Given the description of an element on the screen output the (x, y) to click on. 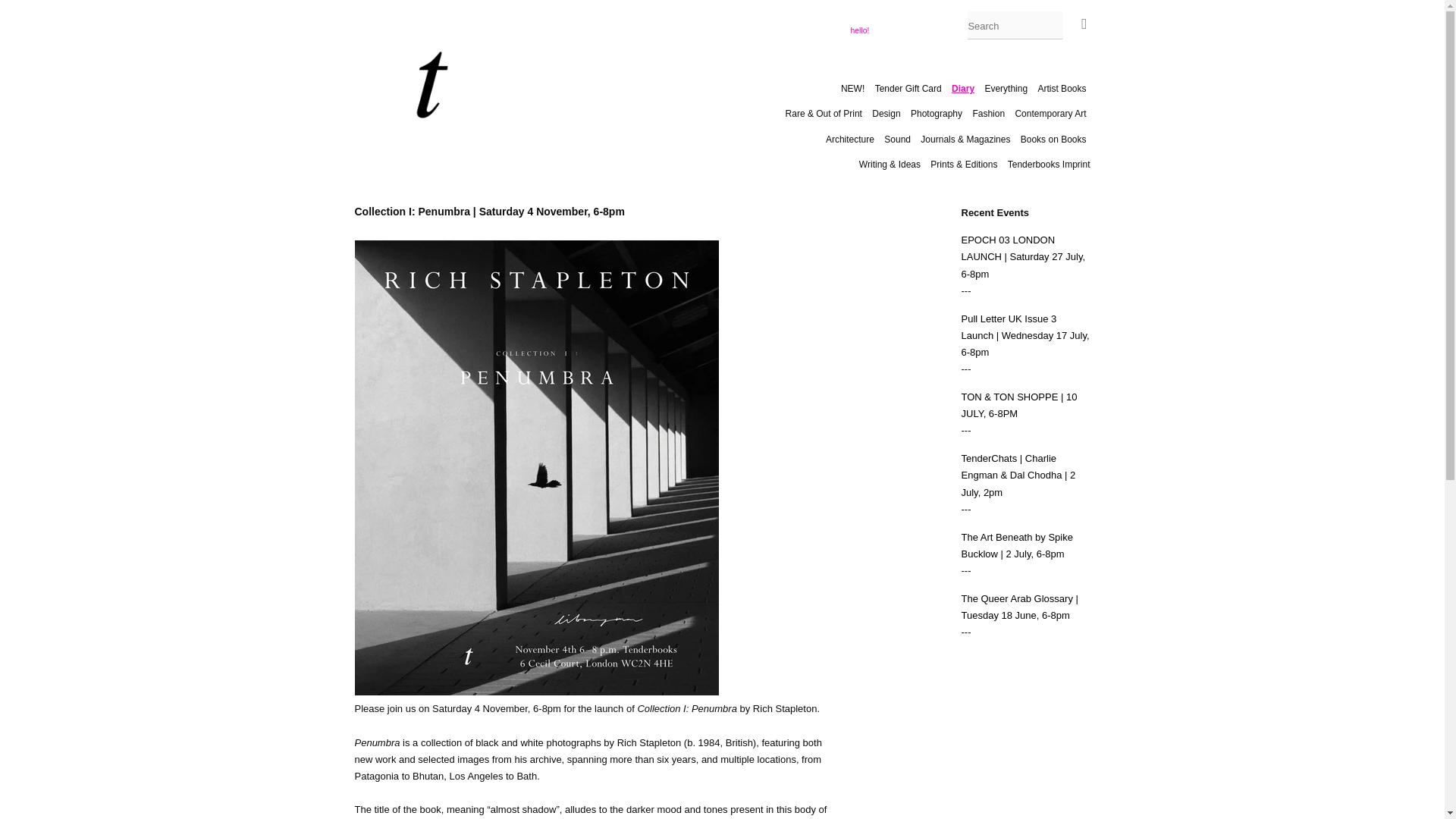
Sound (897, 138)
Diary (962, 87)
Architecture (849, 138)
Everything (1004, 87)
Tender Gift Card (907, 87)
Design (885, 113)
Artist Books (1061, 87)
Photography (936, 113)
Fashion (988, 113)
Books on Books (1053, 138)
Tenderbooks Imprint (1047, 164)
Contemporary Art (1049, 113)
NEW! (854, 87)
